Given the description of an element on the screen output the (x, y) to click on. 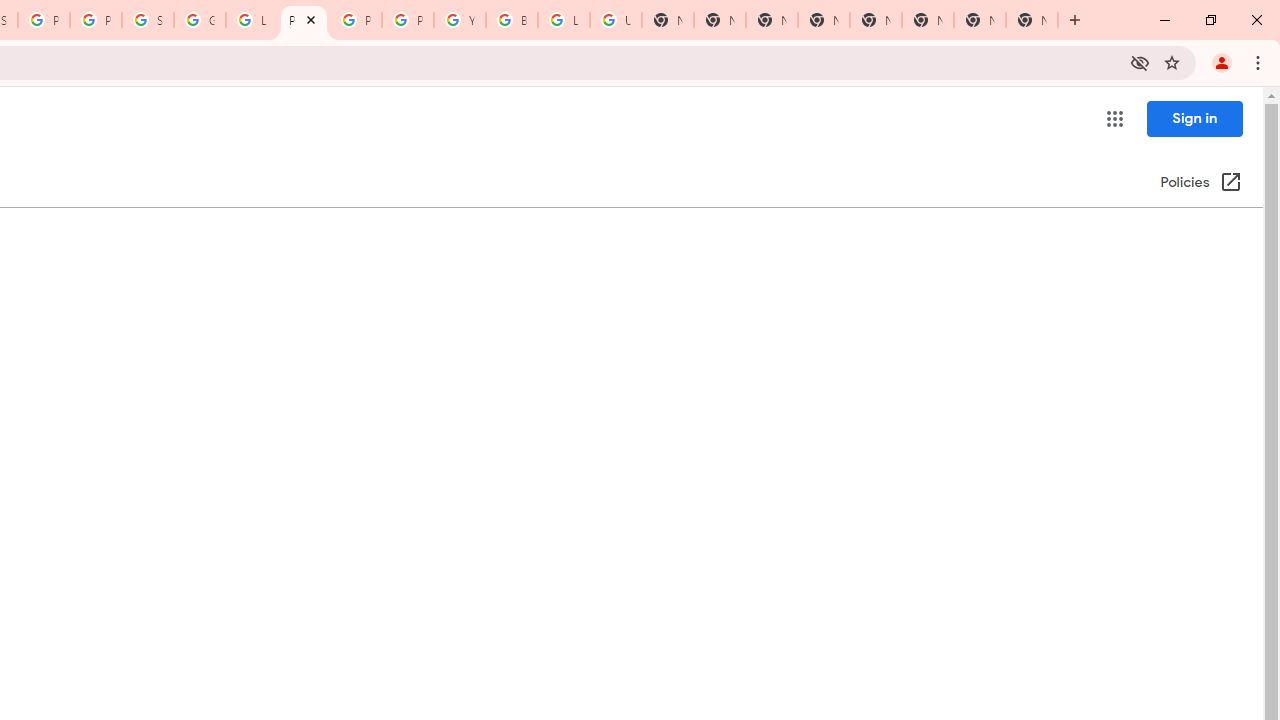
New Tab (1032, 20)
Sign in (1194, 118)
New Tab (771, 20)
YouTube (459, 20)
Sign in - Google Accounts (147, 20)
Policies (Open in a new window) (1200, 183)
